Given the description of an element on the screen output the (x, y) to click on. 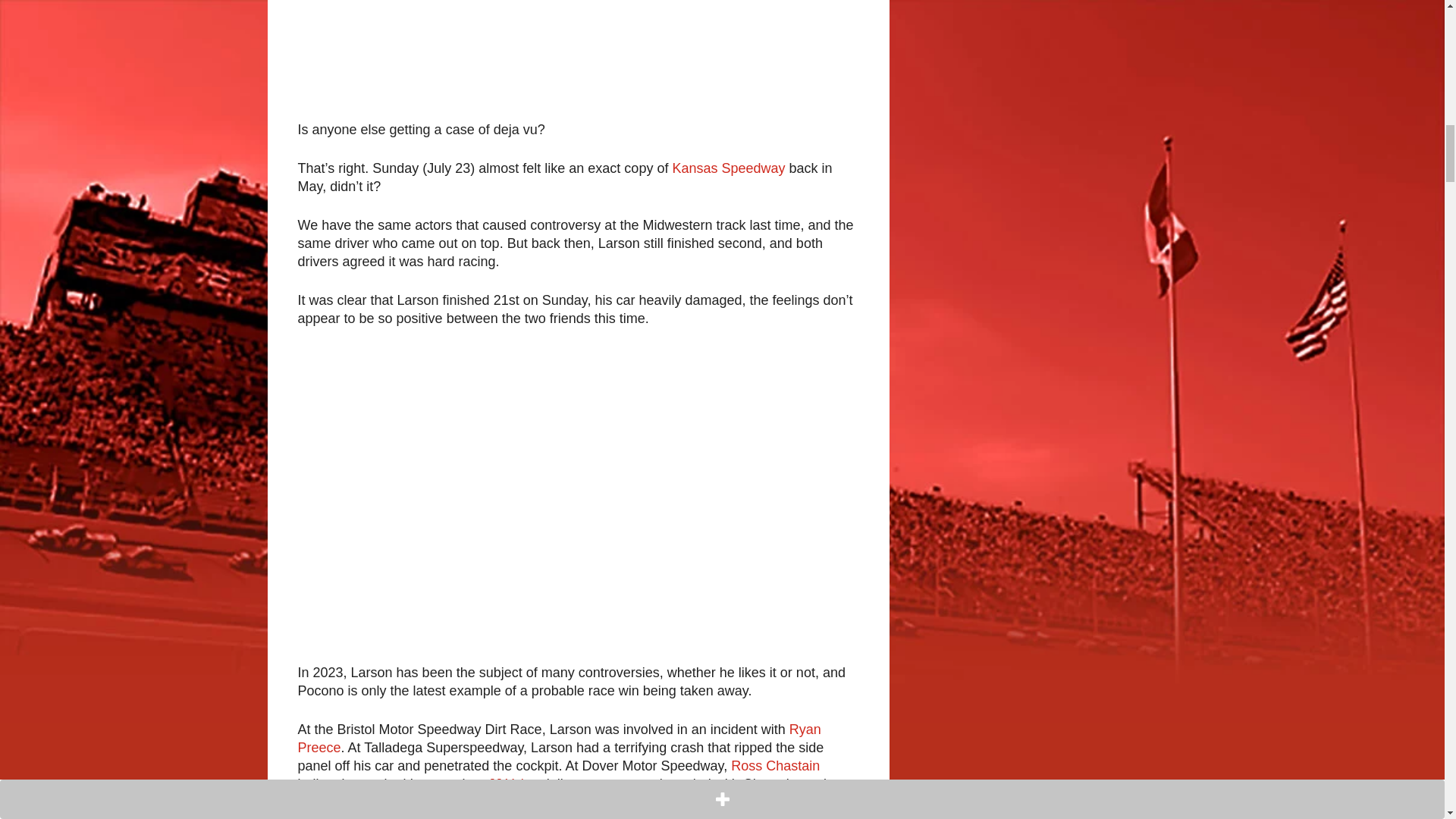
Ryan Preece (559, 738)
Kansas Speedway (728, 168)
JJ Yeley (512, 783)
Ross Chastain (774, 765)
